Given the description of an element on the screen output the (x, y) to click on. 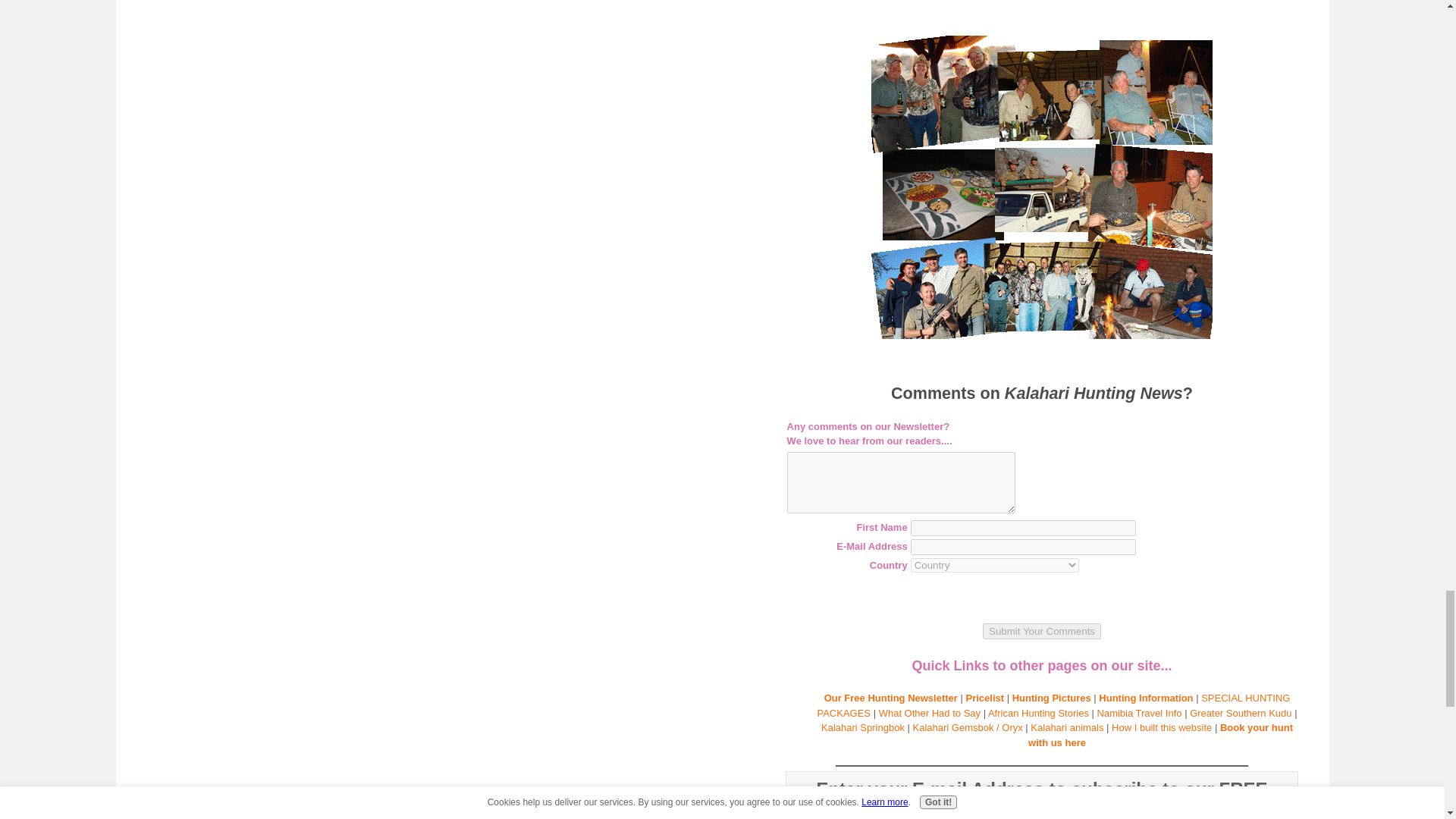
Back Issues of Kalahari Hunting News (1041, 187)
Submit Your Comments (1041, 631)
